Given the description of an element on the screen output the (x, y) to click on. 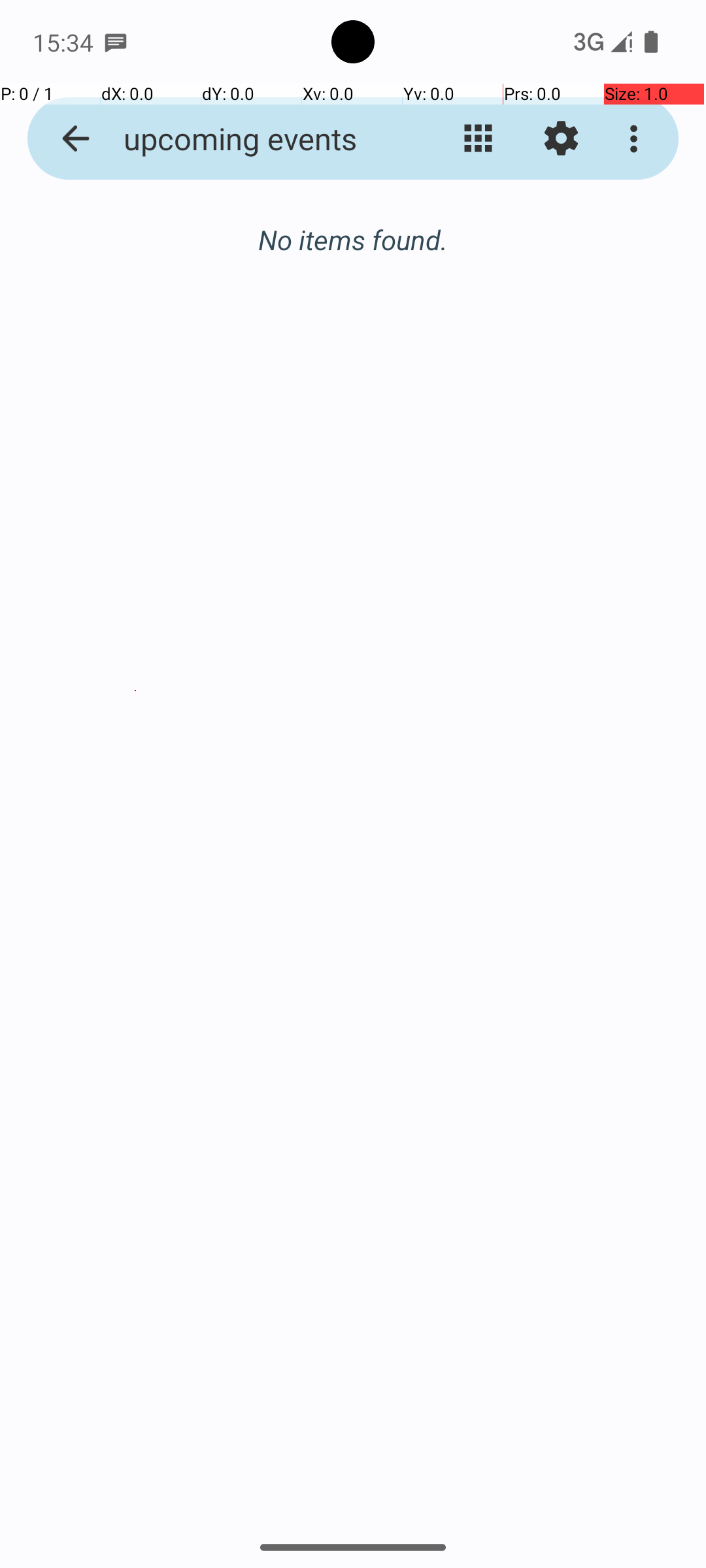
upcoming events Element type: android.widget.EditText (252, 138)
